Given the description of an element on the screen output the (x, y) to click on. 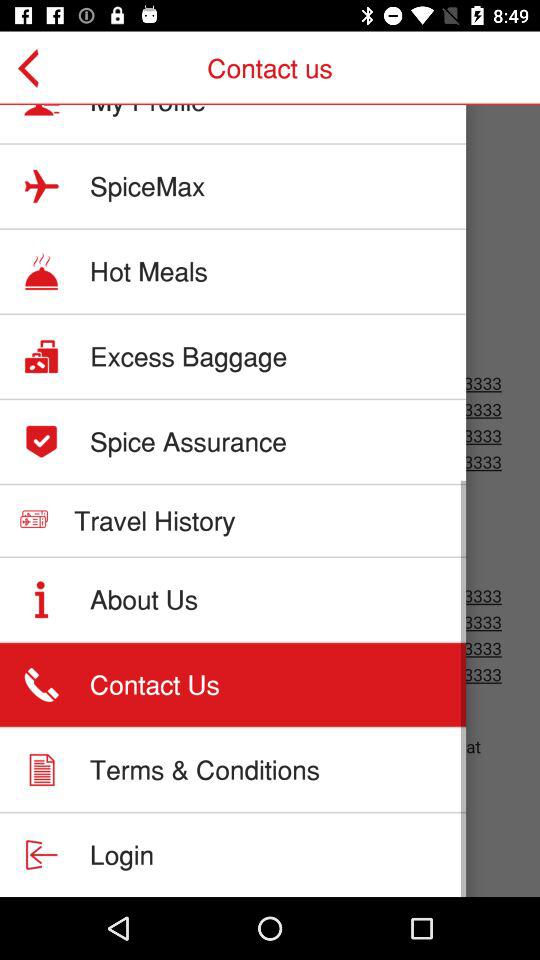
press icon above contact us item (144, 599)
